Given the description of an element on the screen output the (x, y) to click on. 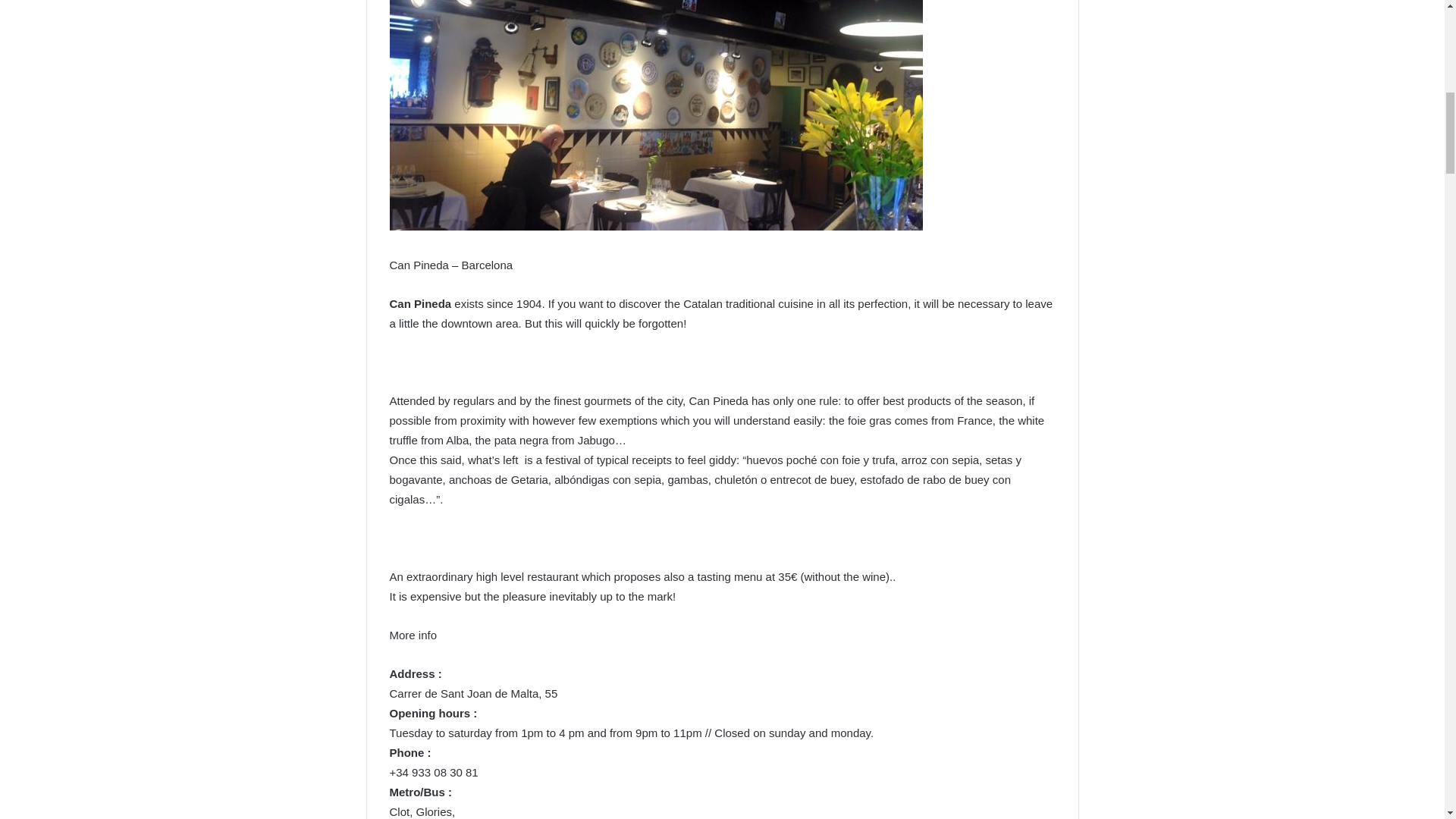
Top Traditional Catalan Restaurants in Barcelona 1 (656, 115)
